Given the description of an element on the screen output the (x, y) to click on. 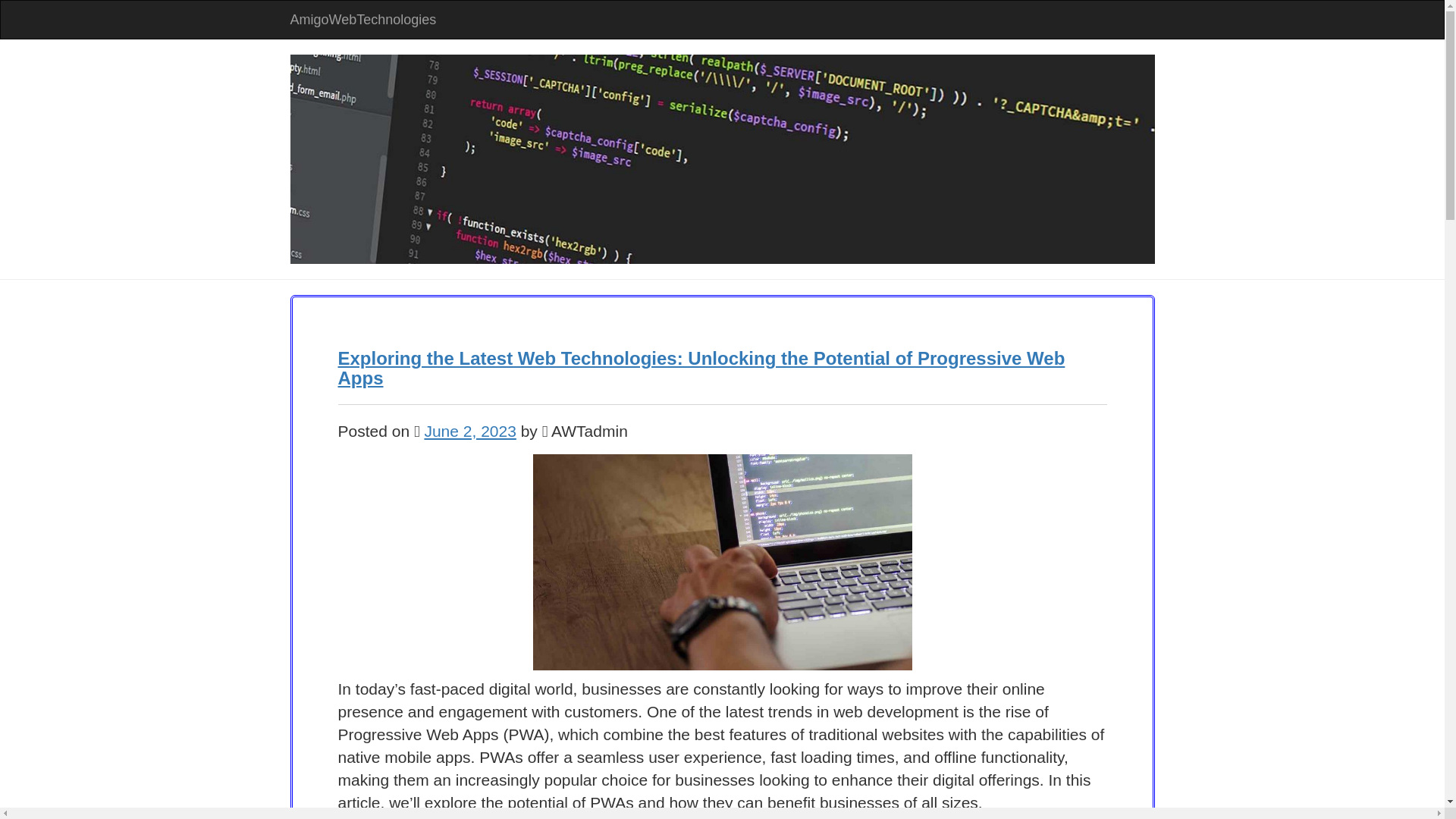
June 2, 2023 (469, 430)
AmigoWebTechnologies (363, 19)
